Given the description of an element on the screen output the (x, y) to click on. 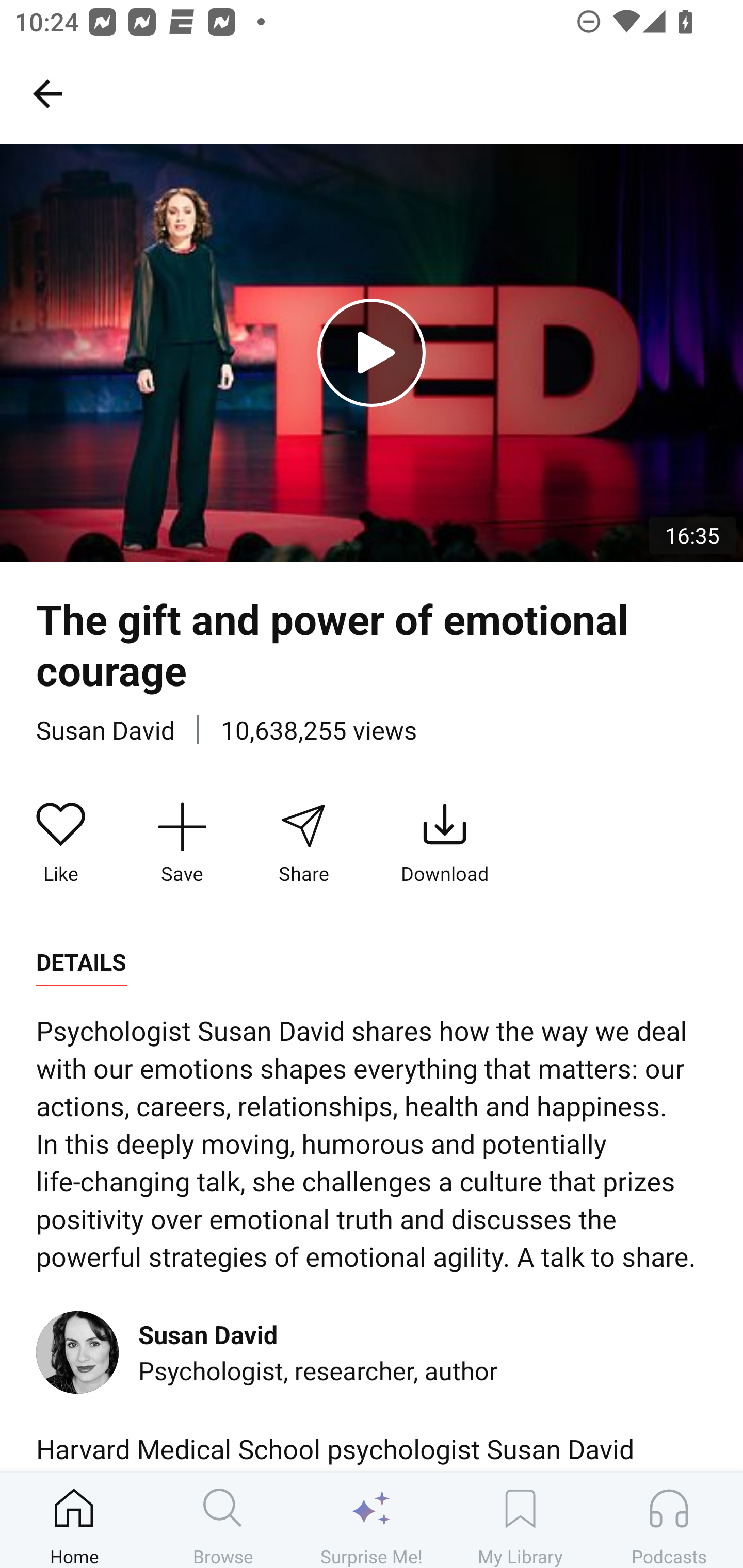
Home, back (47, 92)
Like (60, 843)
Save (181, 843)
Share (302, 843)
Download (444, 843)
DETAILS (80, 962)
Home (74, 1520)
Browse (222, 1520)
Surprise Me! (371, 1520)
My Library (519, 1520)
Podcasts (668, 1520)
